Given the description of an element on the screen output the (x, y) to click on. 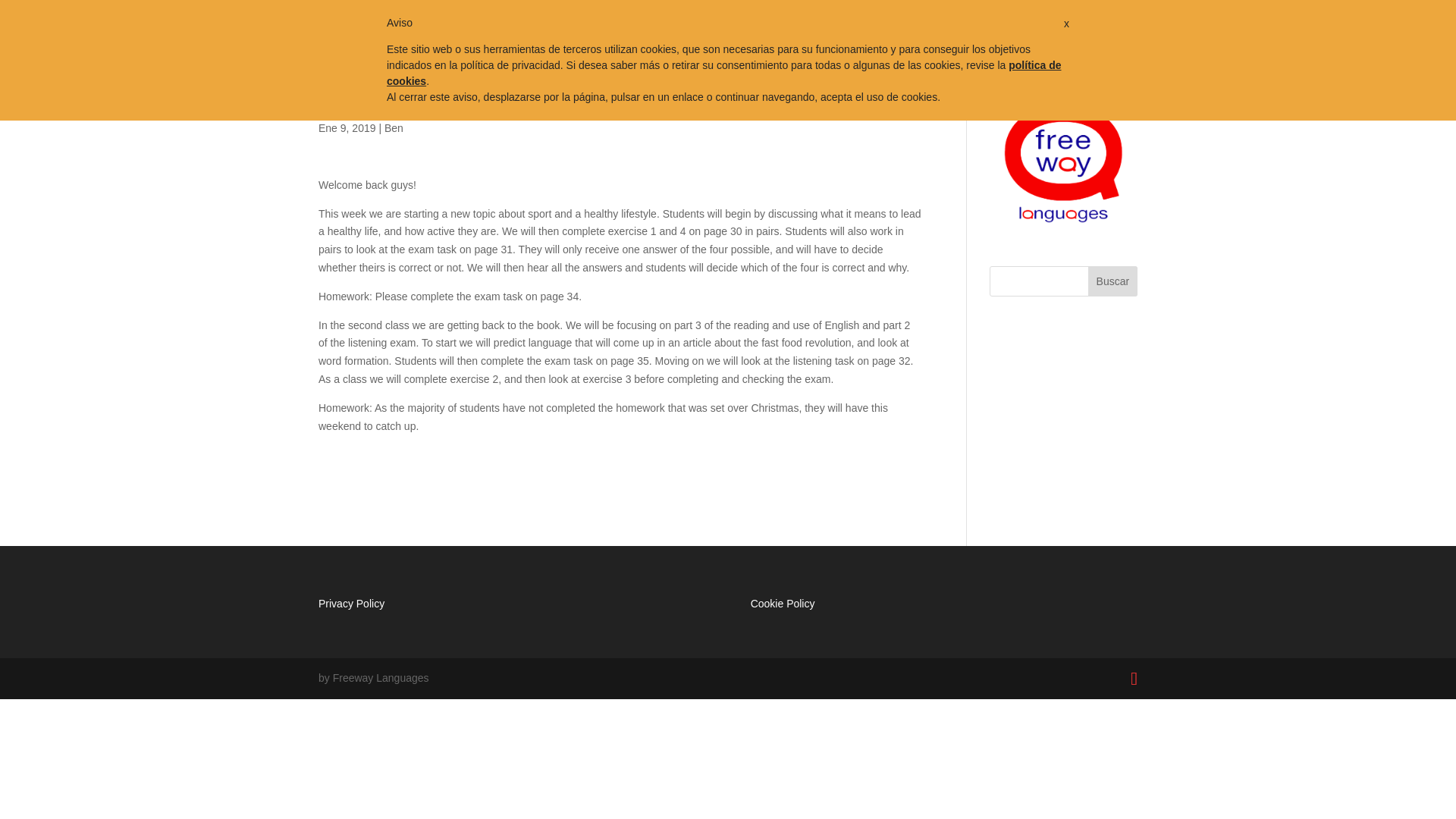
Ben (393, 128)
CURSOS (578, 31)
Privacy Policy (351, 603)
Cookie Policy (783, 603)
Privacy Policy (351, 603)
CALENDARIO (662, 31)
Buscar (1112, 281)
TRADUCCIONES (759, 31)
CLASS BLOG (855, 31)
Buscar (1112, 281)
